Given the description of an element on the screen output the (x, y) to click on. 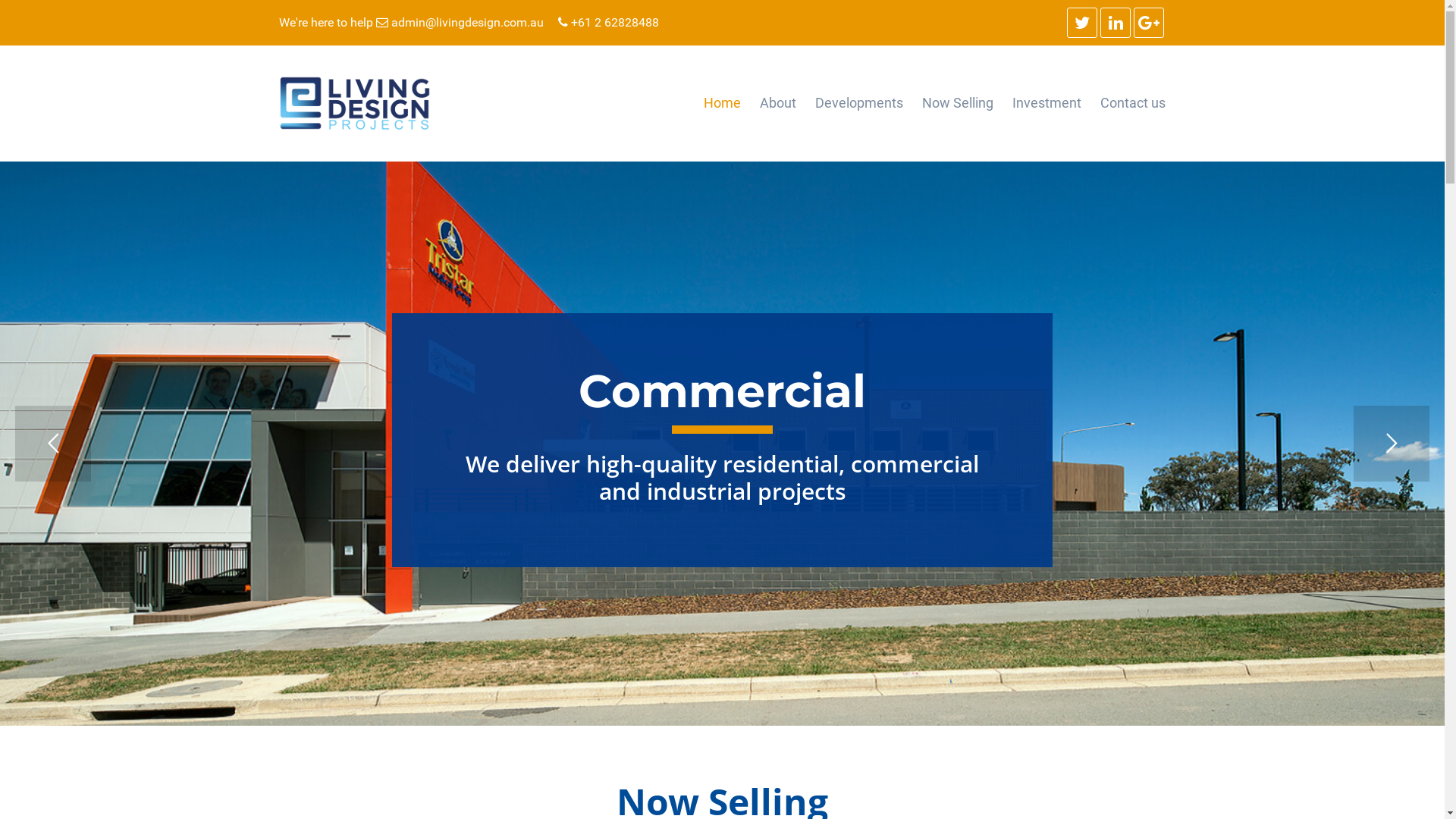
Developments Element type: text (859, 103)
Home Element type: text (721, 103)
Investment Element type: text (1046, 103)
Contact us Element type: text (1132, 103)
admin@livingdesign.com.au Element type: text (459, 22)
About Element type: text (777, 103)
Now Selling Element type: text (957, 103)
